Given the description of an element on the screen output the (x, y) to click on. 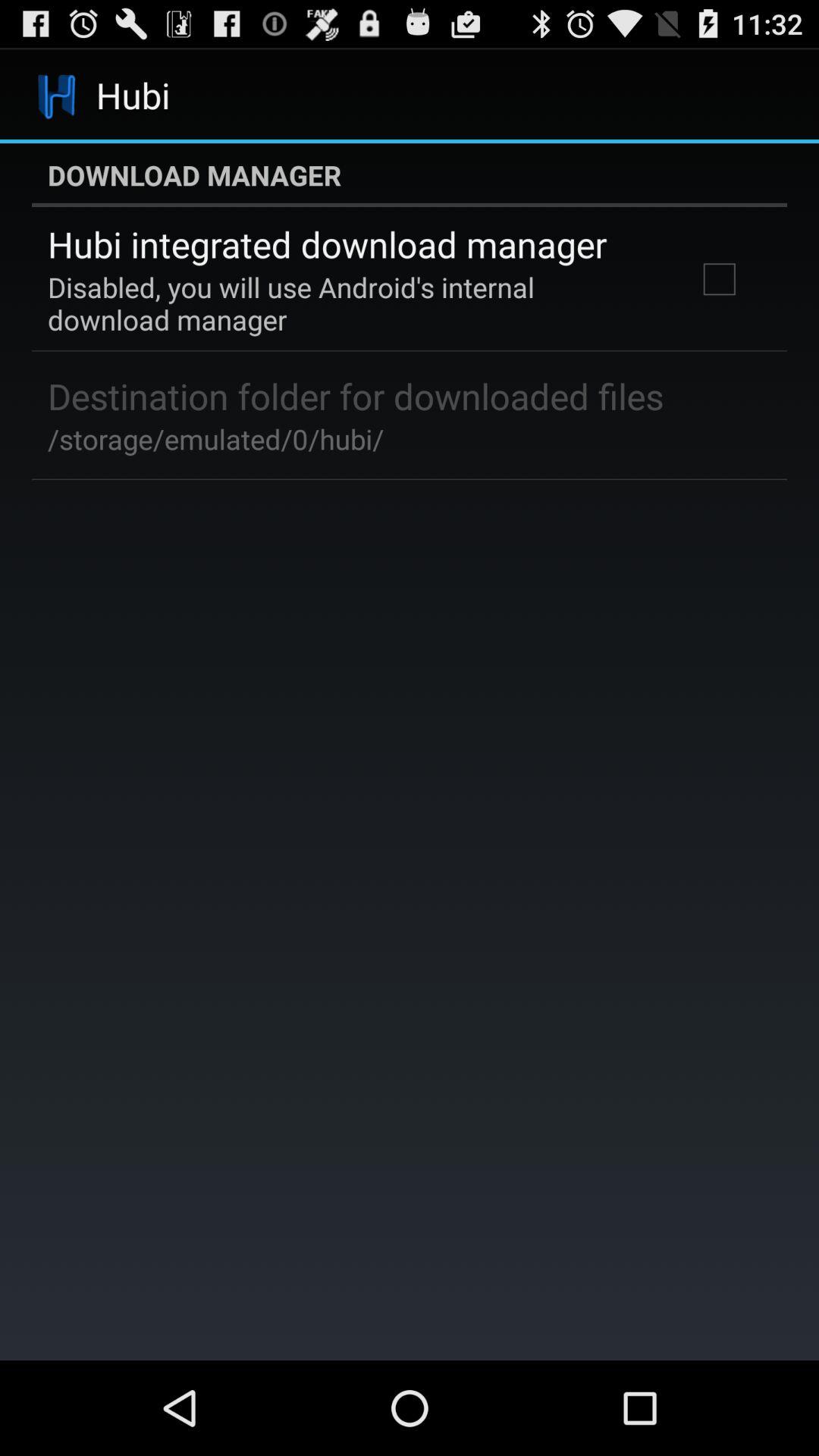
launch the icon above storage emulated 0 (355, 395)
